Given the description of an element on the screen output the (x, y) to click on. 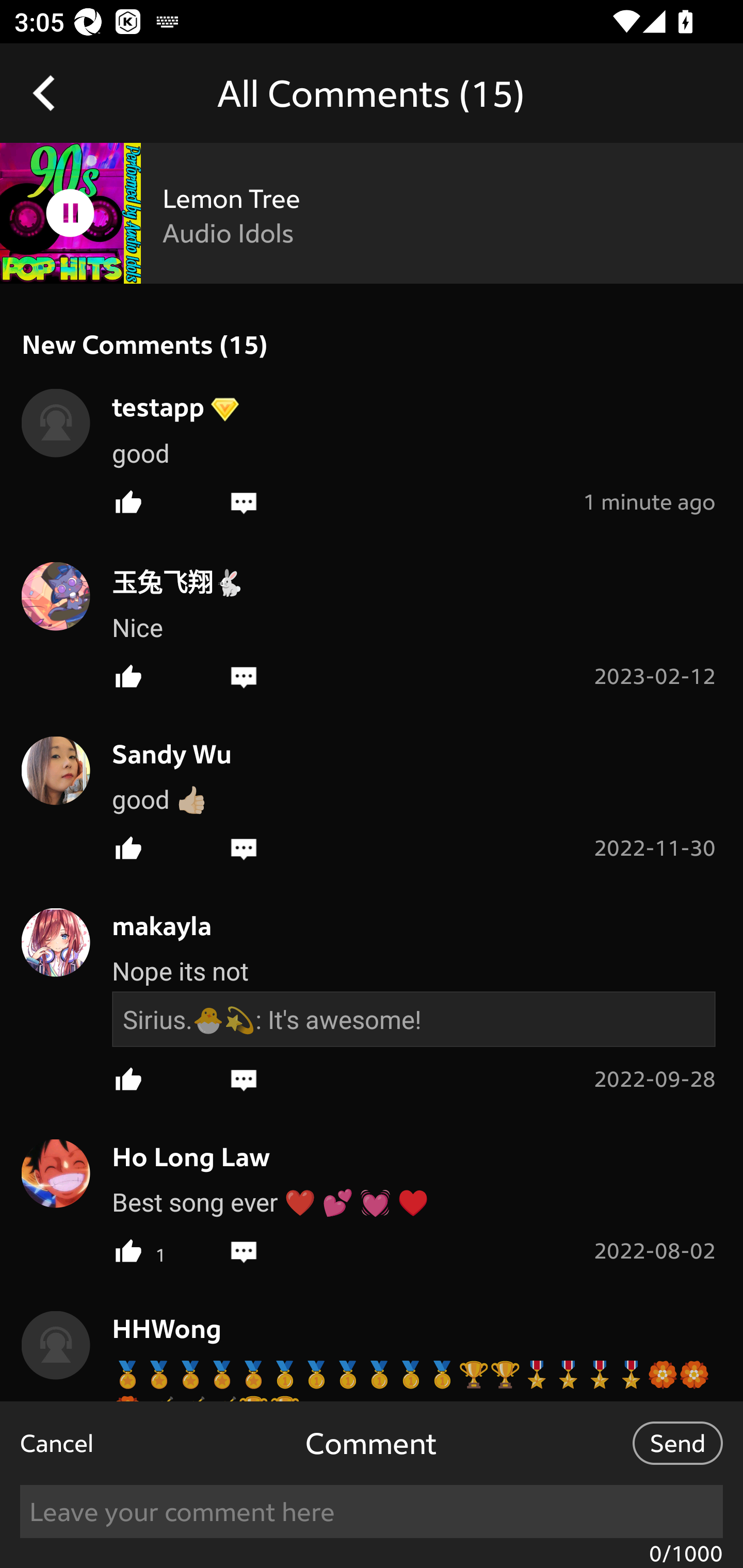
testapp good 1 minute ago (371, 448)
testapp (147, 405)
玉兔飞翔🐇 Nice 2023-02-12 (371, 621)
玉兔飞翔🐇 (167, 580)
Sandy Wu good 👍🏻  2022-11-30 (371, 794)
Sandy Wu (160, 753)
makayla (150, 924)
Ho Long Law Best song ever ❤ 💕 💓 ♥  1 2022-08-02 (371, 1197)
Ho Long Law (180, 1156)
HHWong 🏅🏅🏅🏅🏅🥇🥇🥇🥇🥇🥇🏆🏆🎖🎖🎖🎖🏵🏵🏵🎺🎺🎺🏆🏆 2022-07-13 (371, 1368)
HHWong (156, 1327)
Cancel Comment Send Leave your comment here 0/1000 (371, 1484)
Send (677, 1443)
Cancel (56, 1442)
Leave your comment here (371, 1511)
